Given the description of an element on the screen output the (x, y) to click on. 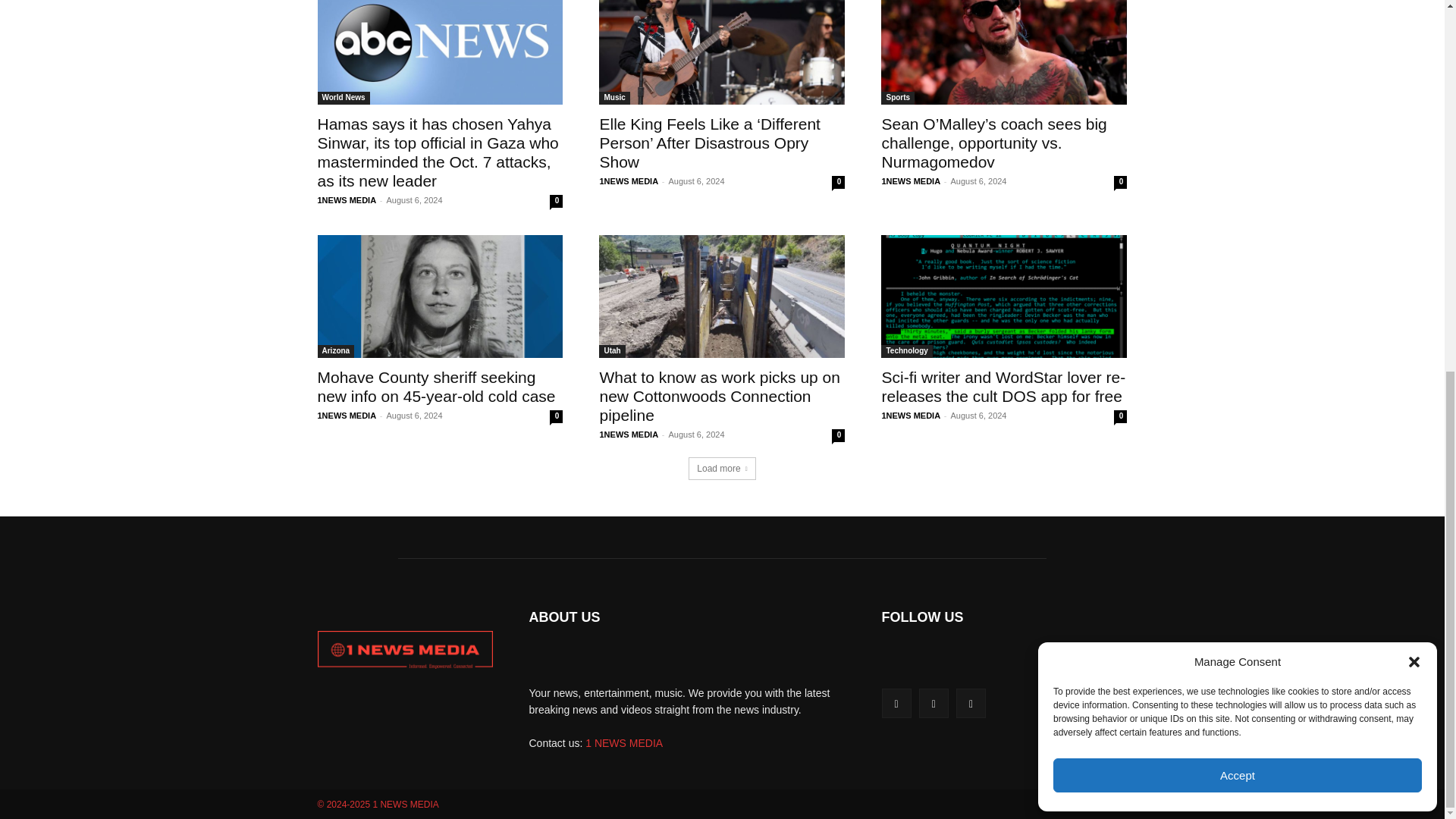
Accept (1237, 98)
